Given the description of an element on the screen output the (x, y) to click on. 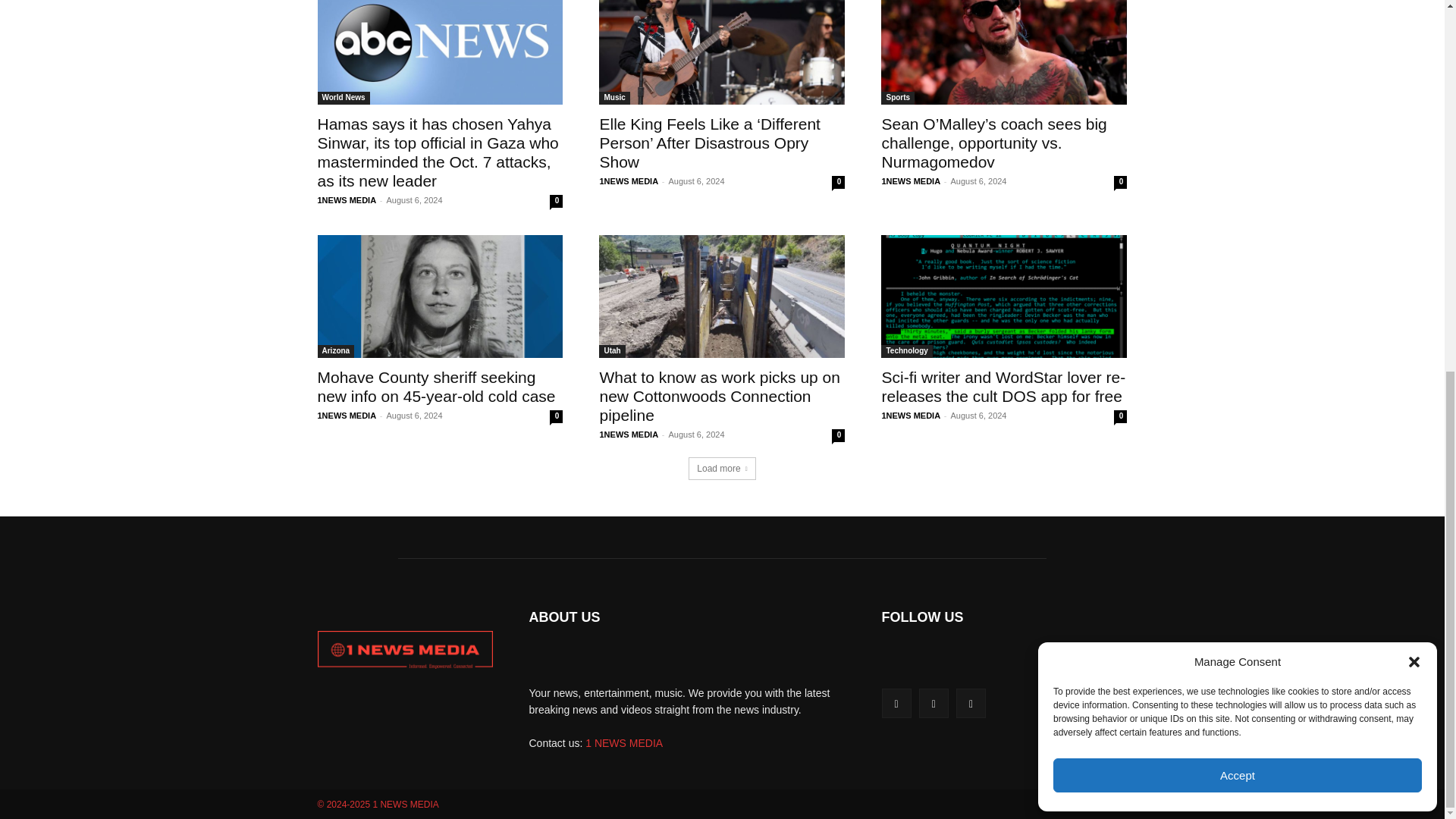
Accept (1237, 98)
